Given the description of an element on the screen output the (x, y) to click on. 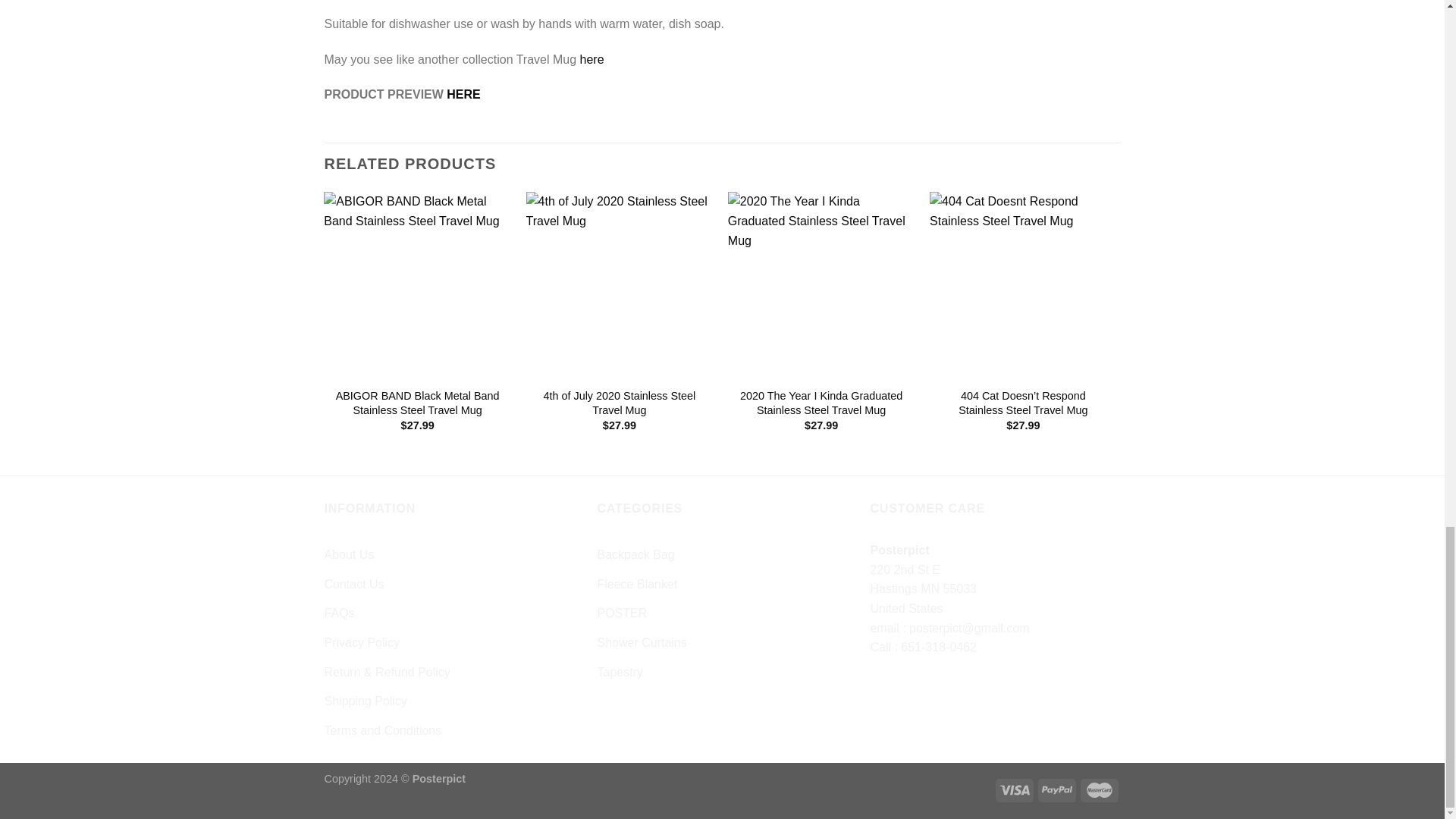
here (591, 59)
